Given the description of an element on the screen output the (x, y) to click on. 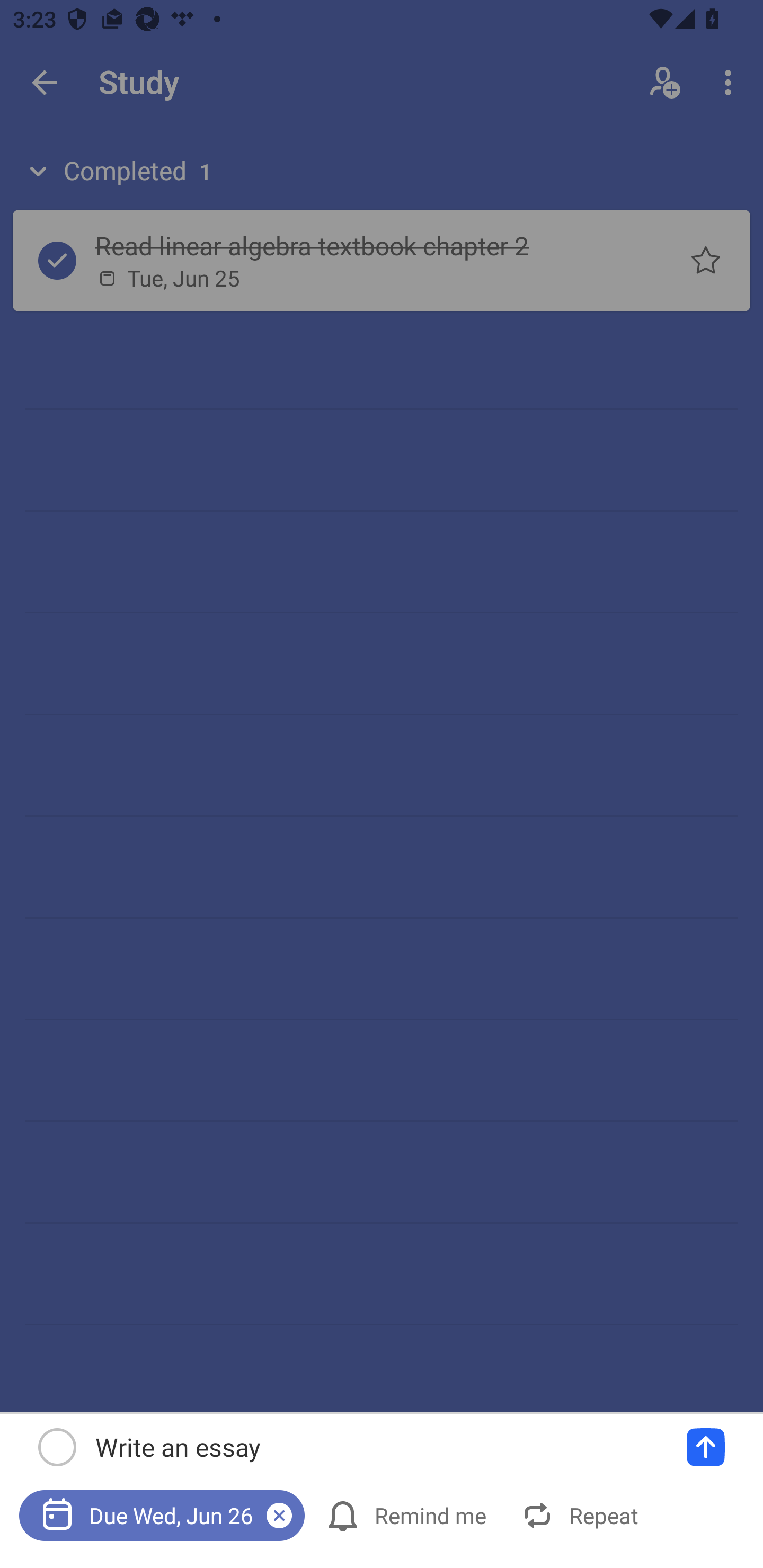
Add a task (705, 1446)
